Given the description of an element on the screen output the (x, y) to click on. 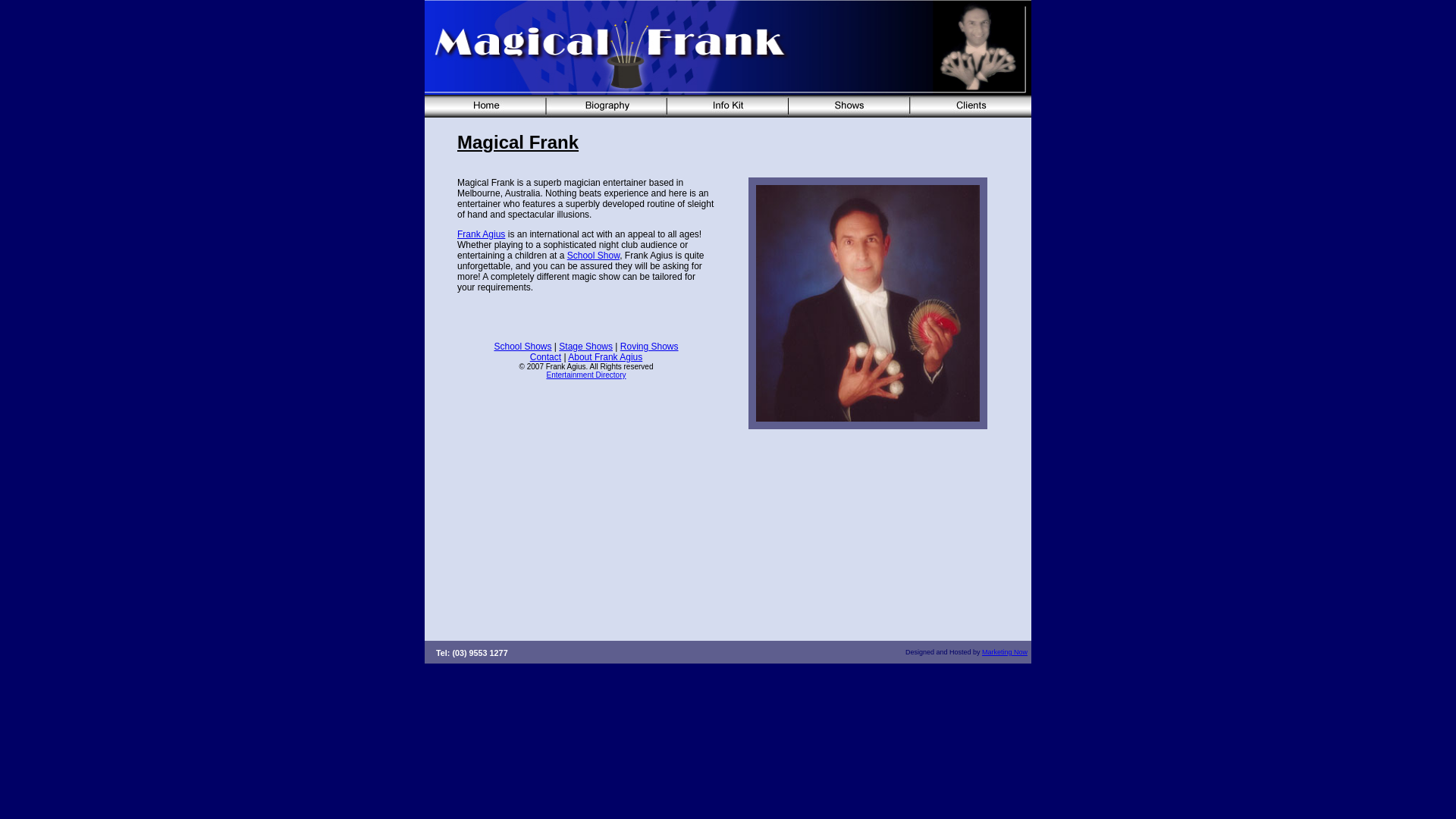
Entertainment Directory Element type: text (585, 374)
Frank Agius Element type: text (481, 234)
About Frank Agius Element type: text (604, 356)
School Shows Element type: text (522, 346)
Marketing Now Element type: text (1004, 651)
School Show Element type: text (593, 255)
Roving Shows Element type: text (649, 346)
Stage Shows Element type: text (585, 346)
Contact Element type: text (545, 356)
